Given the description of an element on the screen output the (x, y) to click on. 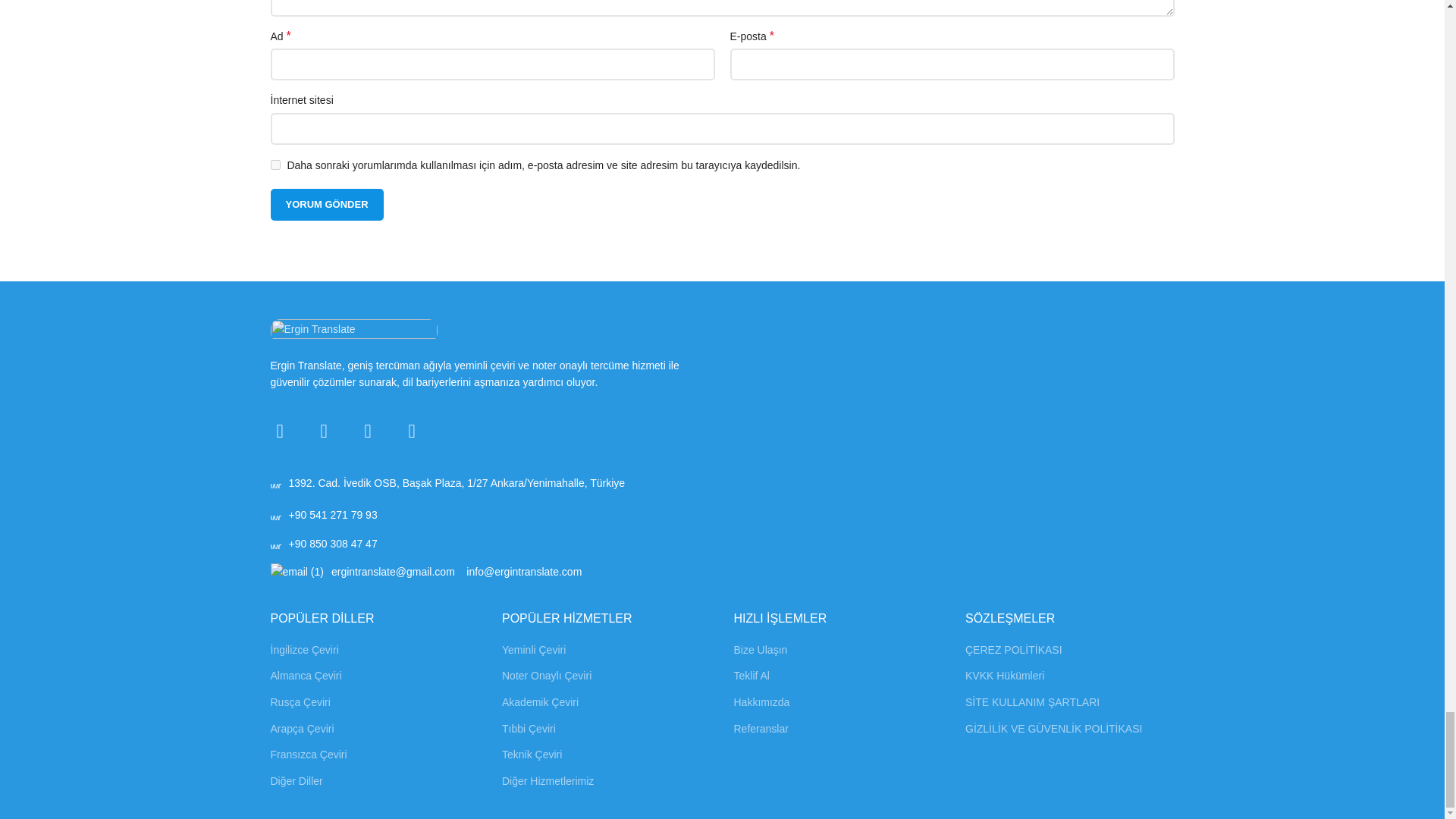
wd-cursor-light (275, 482)
yes (274, 164)
wd-phone-light (275, 514)
wd-phone-light (275, 543)
Ergin Translate (352, 330)
